Given the description of an element on the screen output the (x, y) to click on. 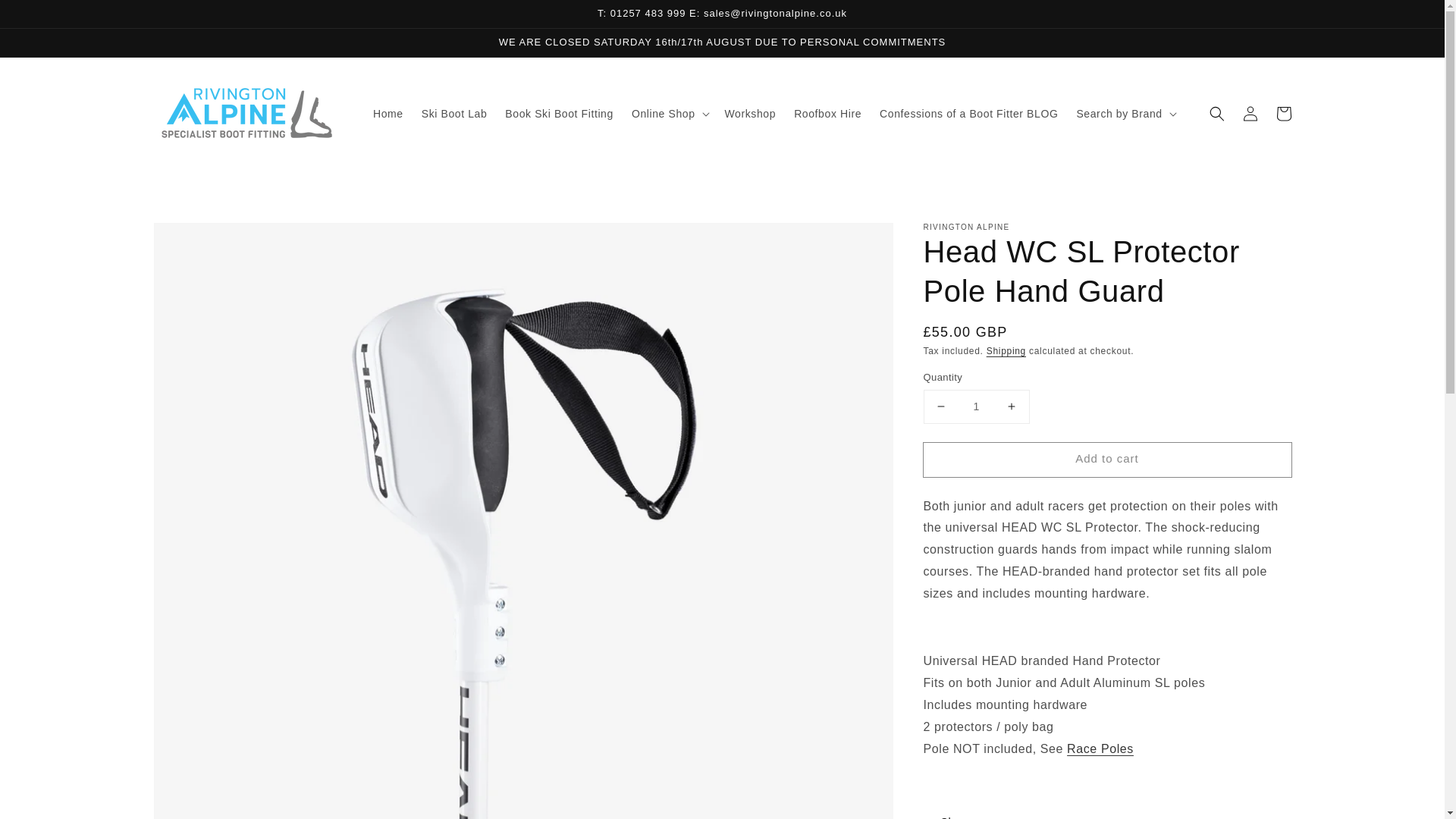
Skip to content (45, 16)
1 (976, 406)
Sk Poles (1100, 748)
